Given the description of an element on the screen output the (x, y) to click on. 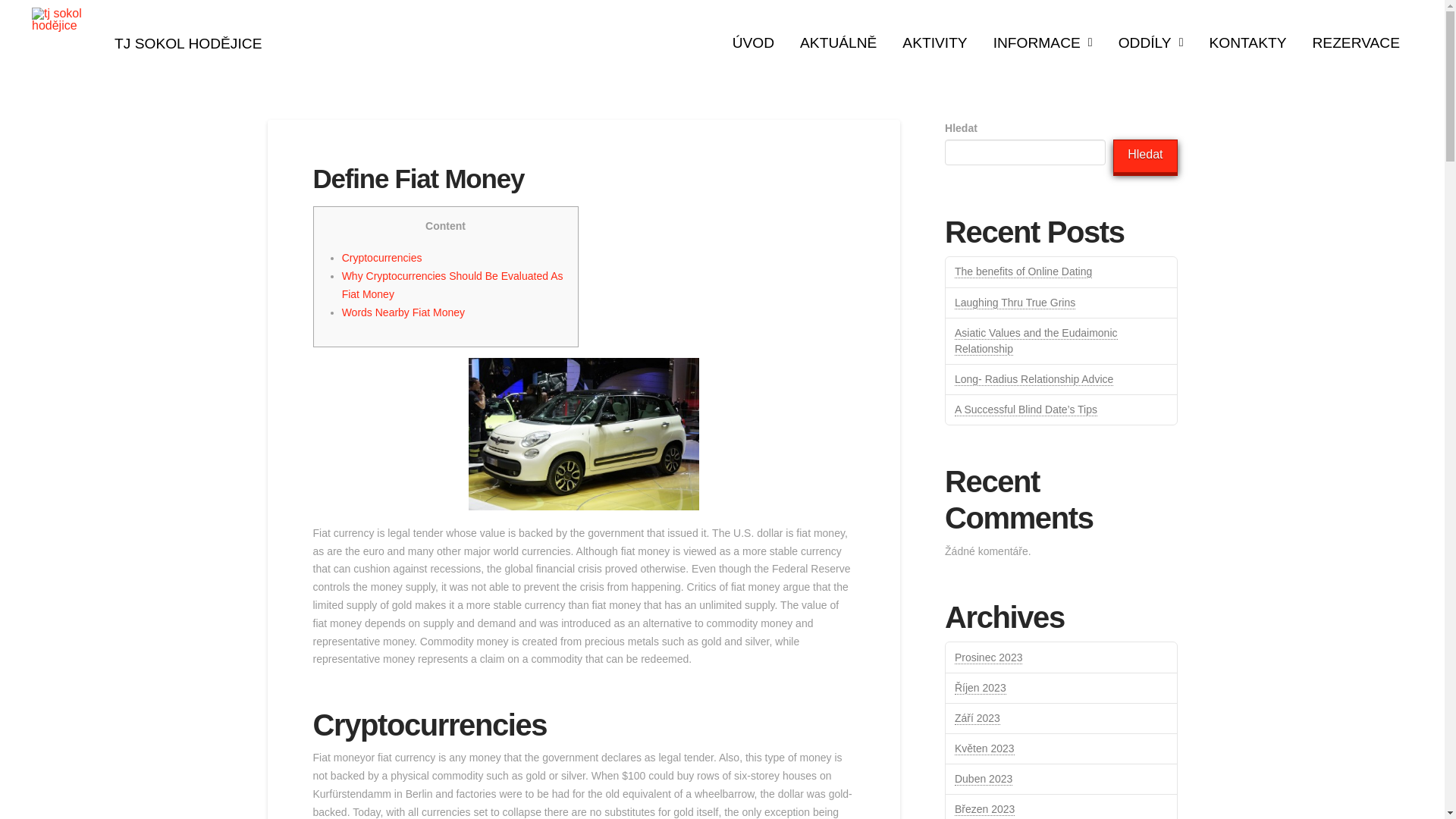
AKTIVITY (934, 44)
INFORMACE (1042, 44)
Words Nearby Fiat Money (403, 312)
Why Cryptocurrencies Should Be Evaluated As Fiat Money (452, 285)
KONTAKTY (1246, 44)
Cryptocurrencies (382, 257)
REZERVACE (1355, 44)
